Given the description of an element on the screen output the (x, y) to click on. 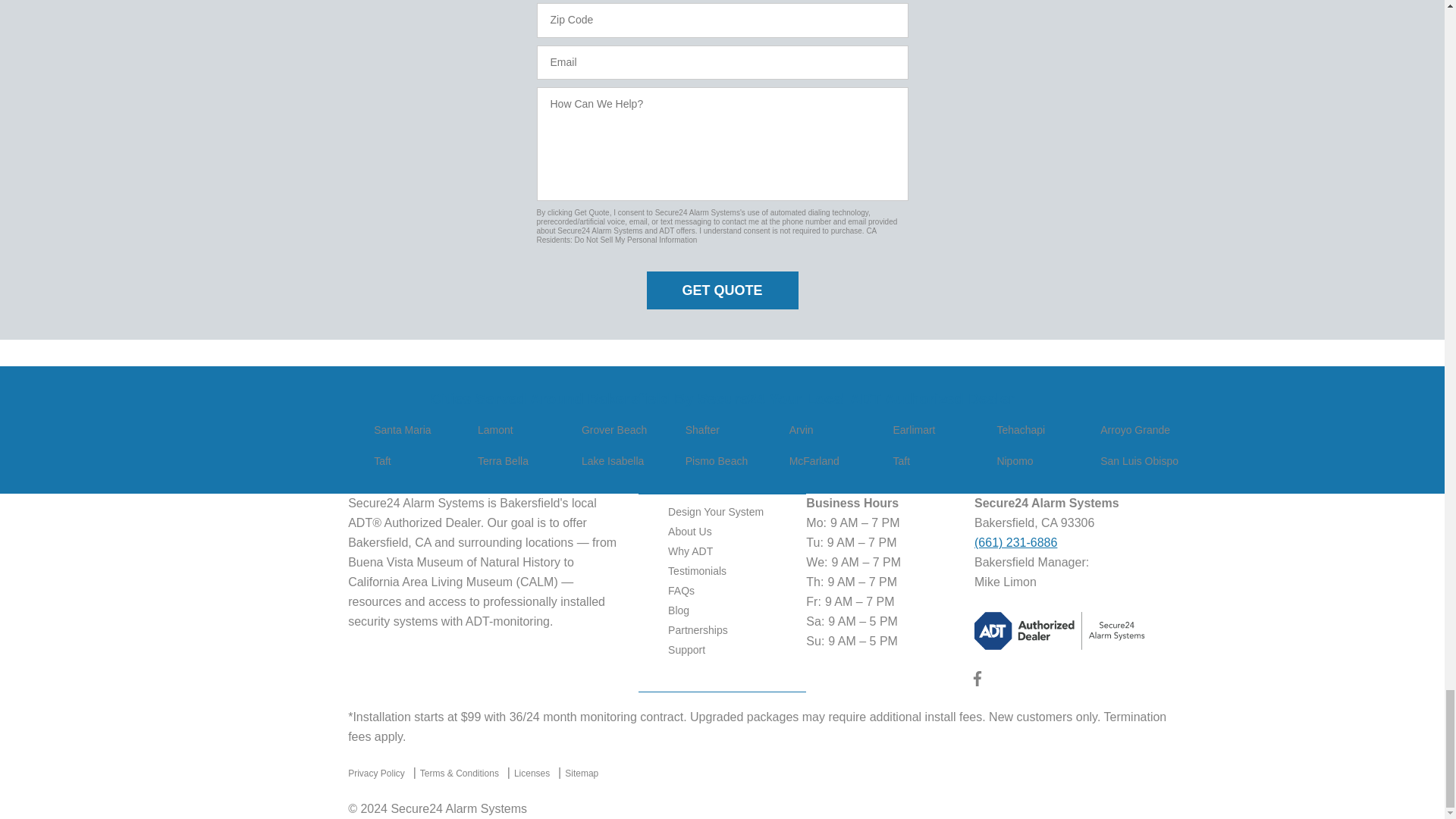
GET QUOTE (721, 290)
Like us on Facebook (977, 681)
